Given the description of an element on the screen output the (x, y) to click on. 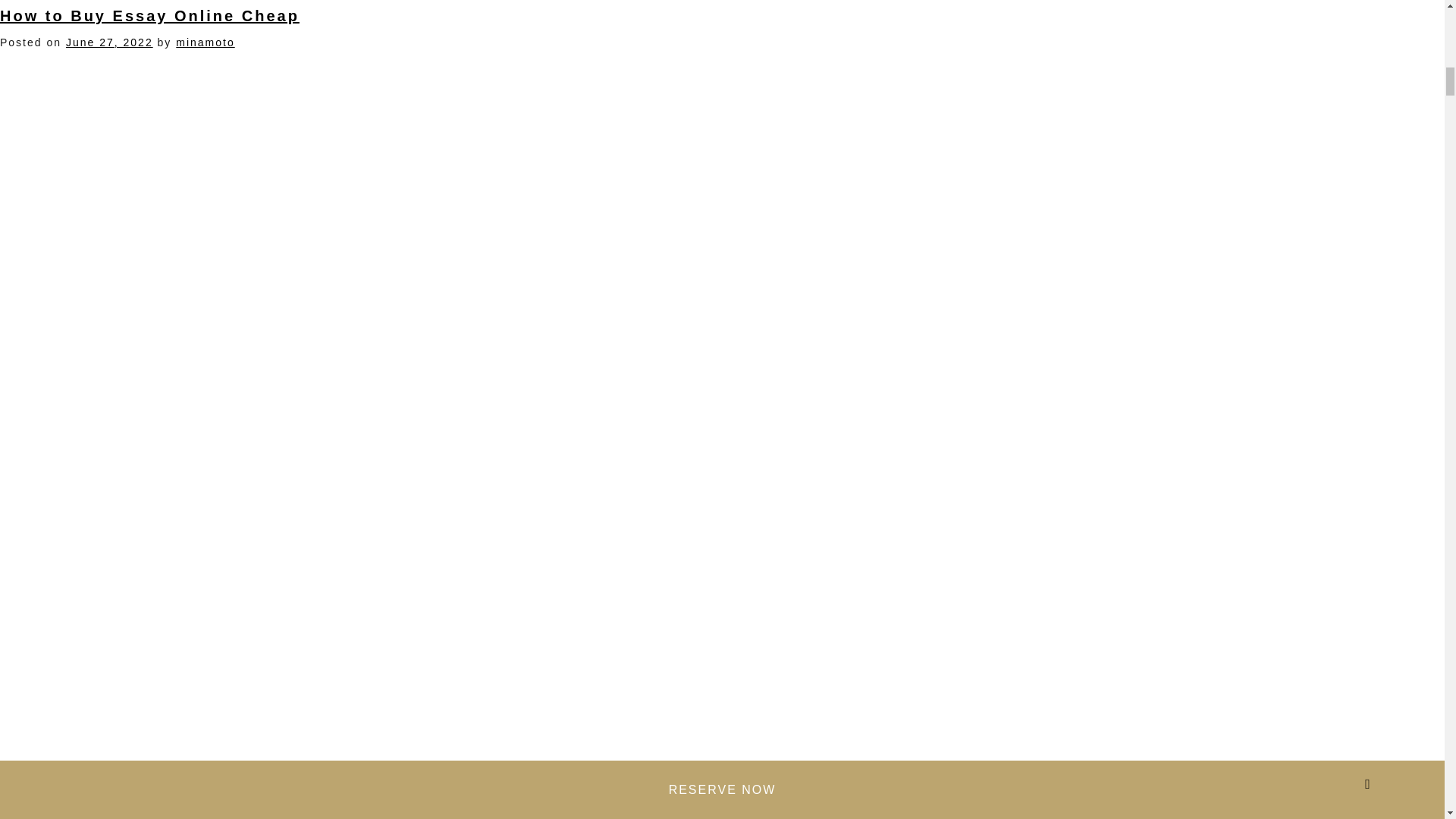
June 27, 2022 (108, 42)
minamoto (205, 42)
How to Buy Essay Online Cheap (149, 15)
